Given the description of an element on the screen output the (x, y) to click on. 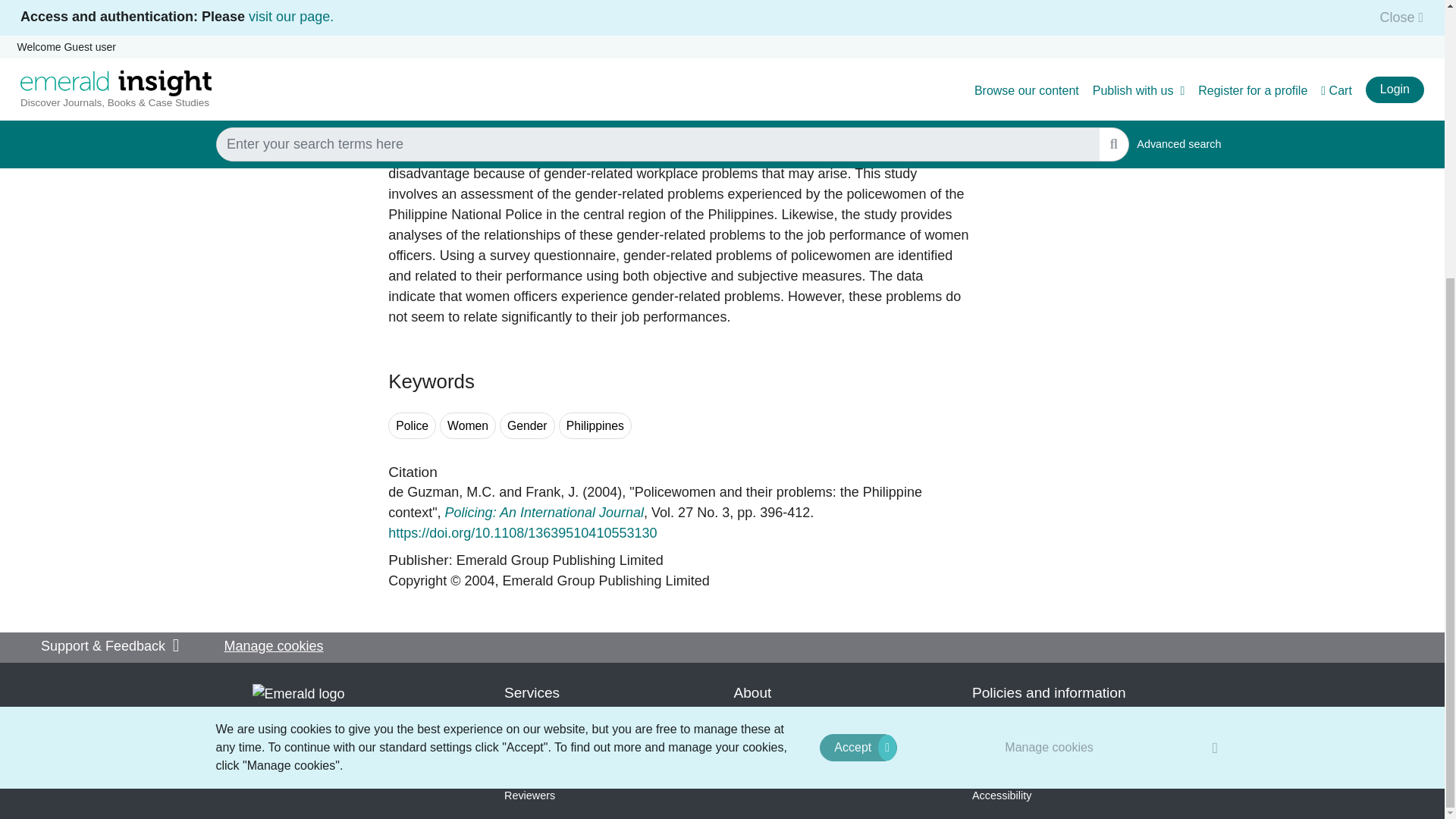
Search for keyword Police (411, 425)
Accept (857, 334)
James Frank (551, 491)
Search for keyword Gender (526, 425)
International Standard Serial Number. (404, 2)
Search for keyword Philippines (595, 425)
Melchor C. de Guzman (441, 491)
Search for keyword Women (467, 425)
Manage cookies (1049, 335)
